Given the description of an element on the screen output the (x, y) to click on. 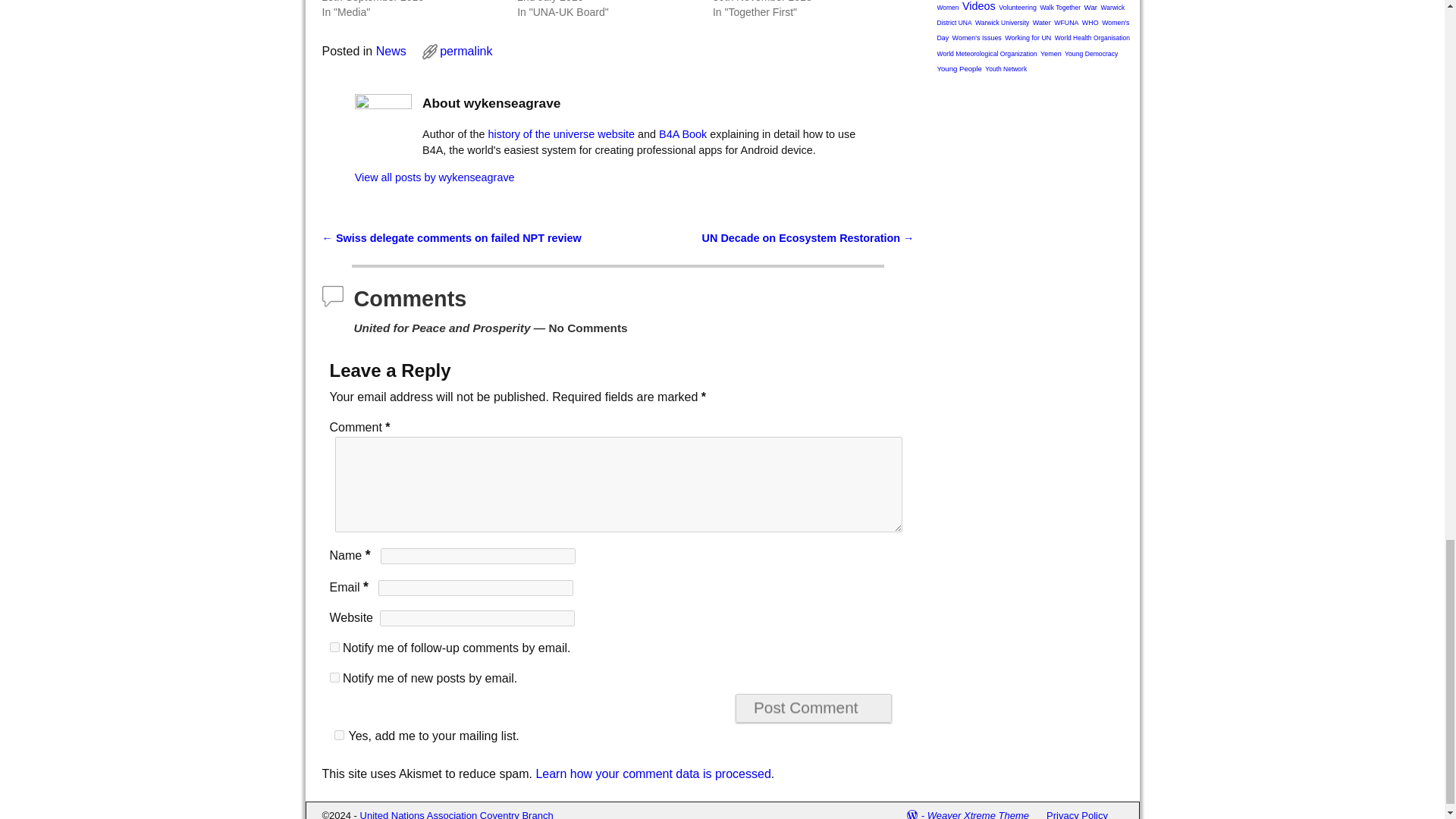
subscribe (334, 646)
Post Comment (813, 707)
1 (338, 735)
subscribe (334, 677)
Permalink to United for Peace and Prosperity (465, 51)
